Given the description of an element on the screen output the (x, y) to click on. 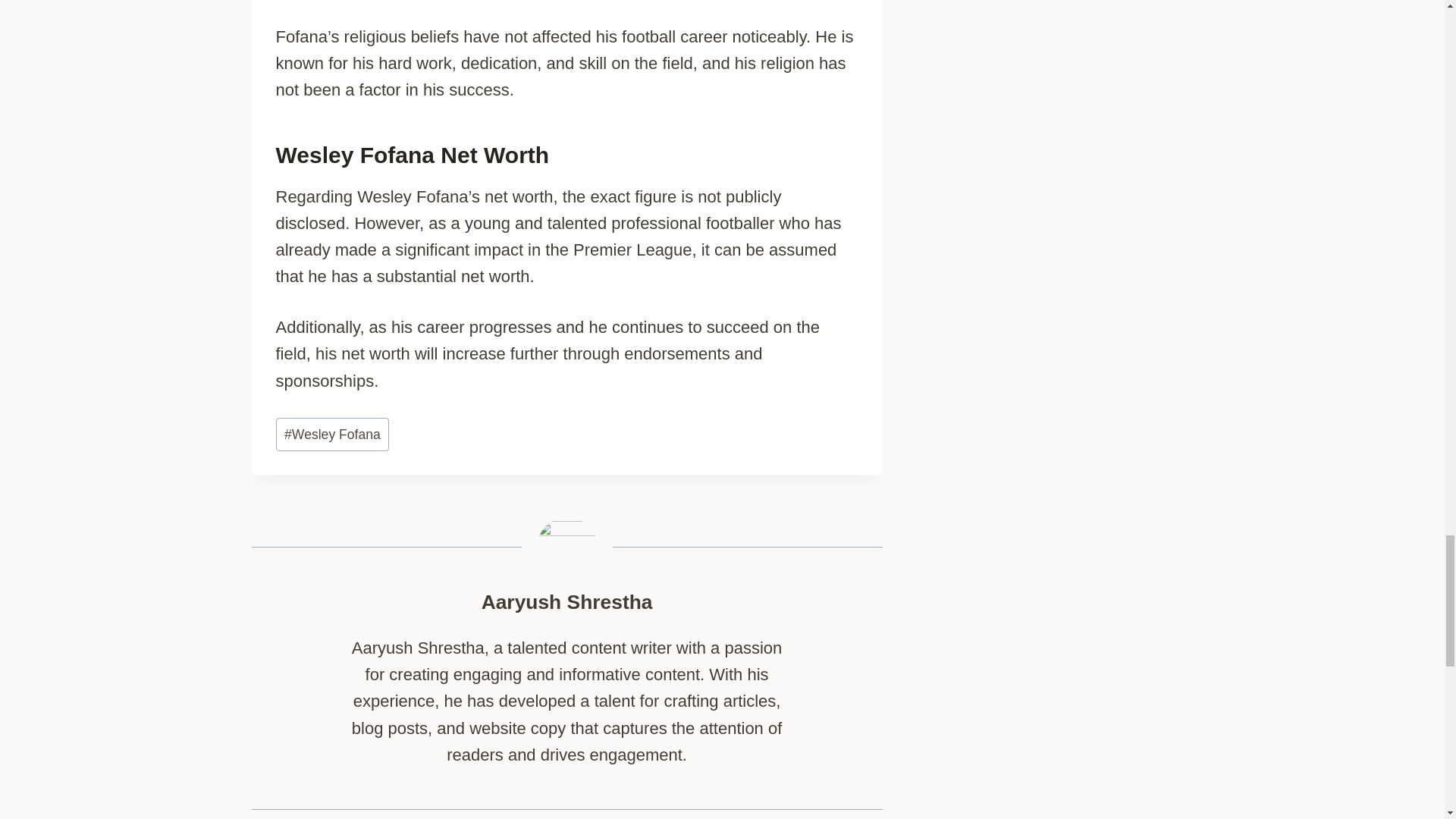
Wesley Fofana (333, 434)
